Given the description of an element on the screen output the (x, y) to click on. 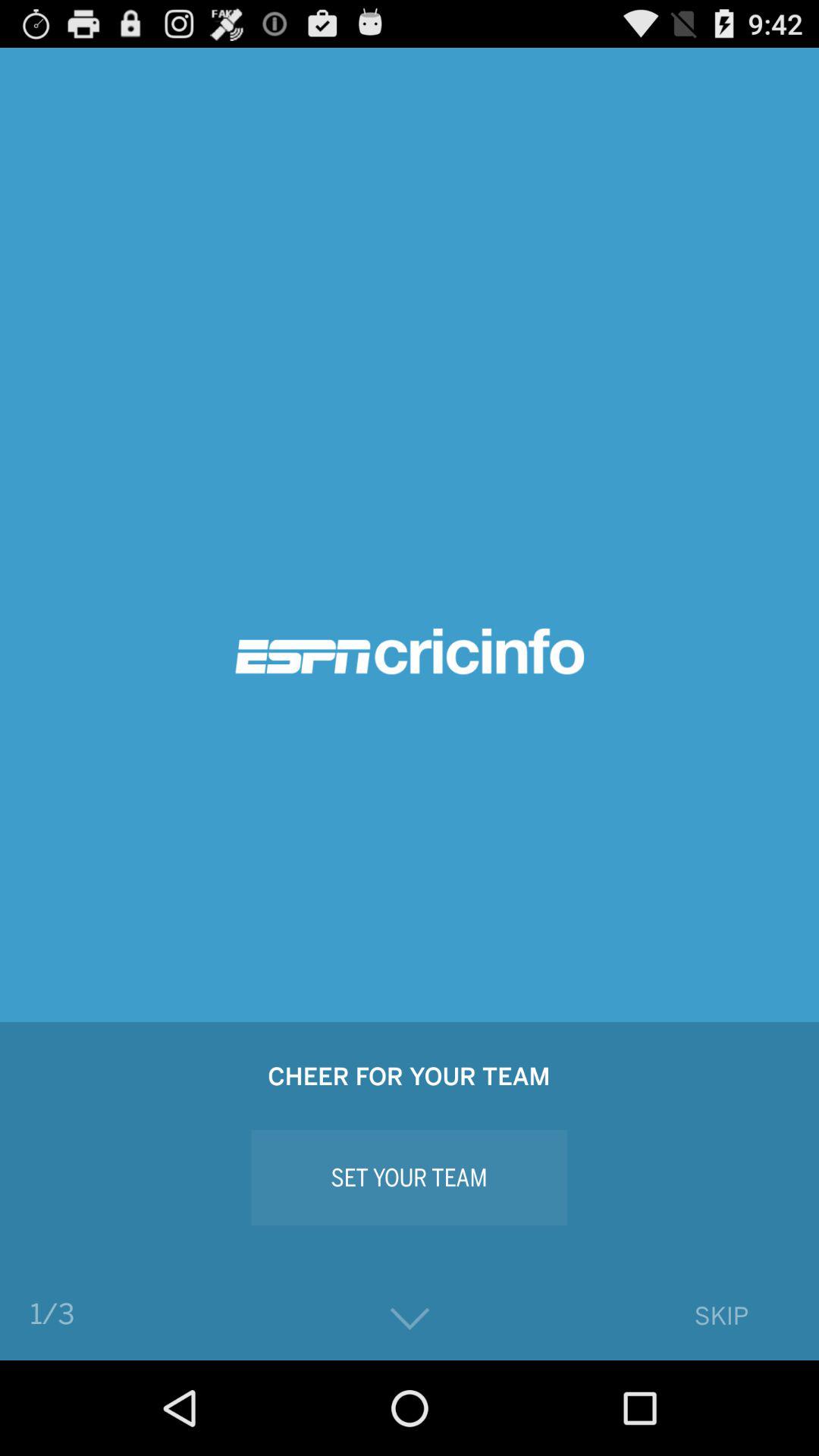
press the item next to 1/3 (409, 1319)
